Given the description of an element on the screen output the (x, y) to click on. 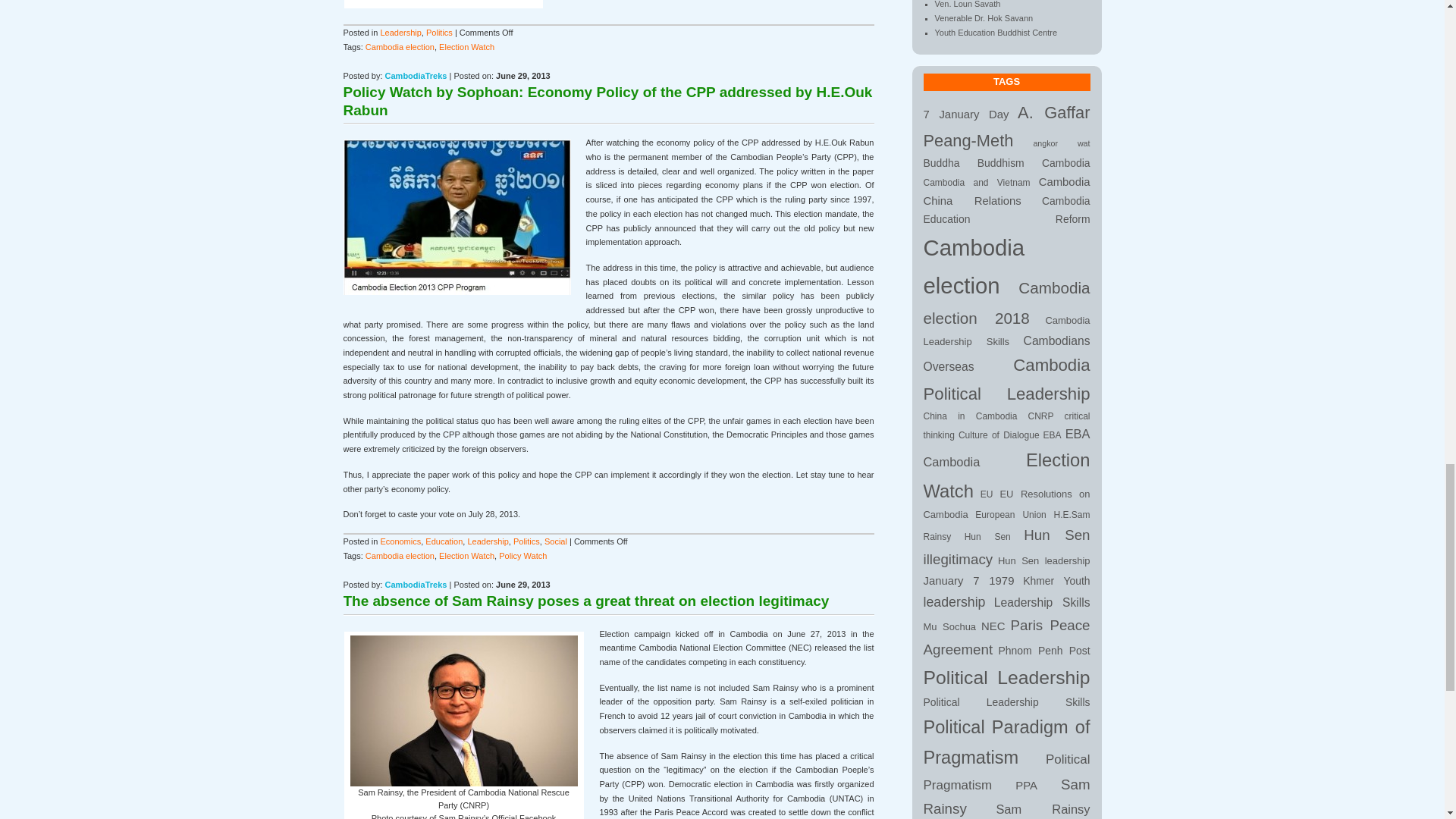
Posts by CambodiaTreks (415, 75)
Posts by CambodiaTreks (415, 583)
